Given the description of an element on the screen output the (x, y) to click on. 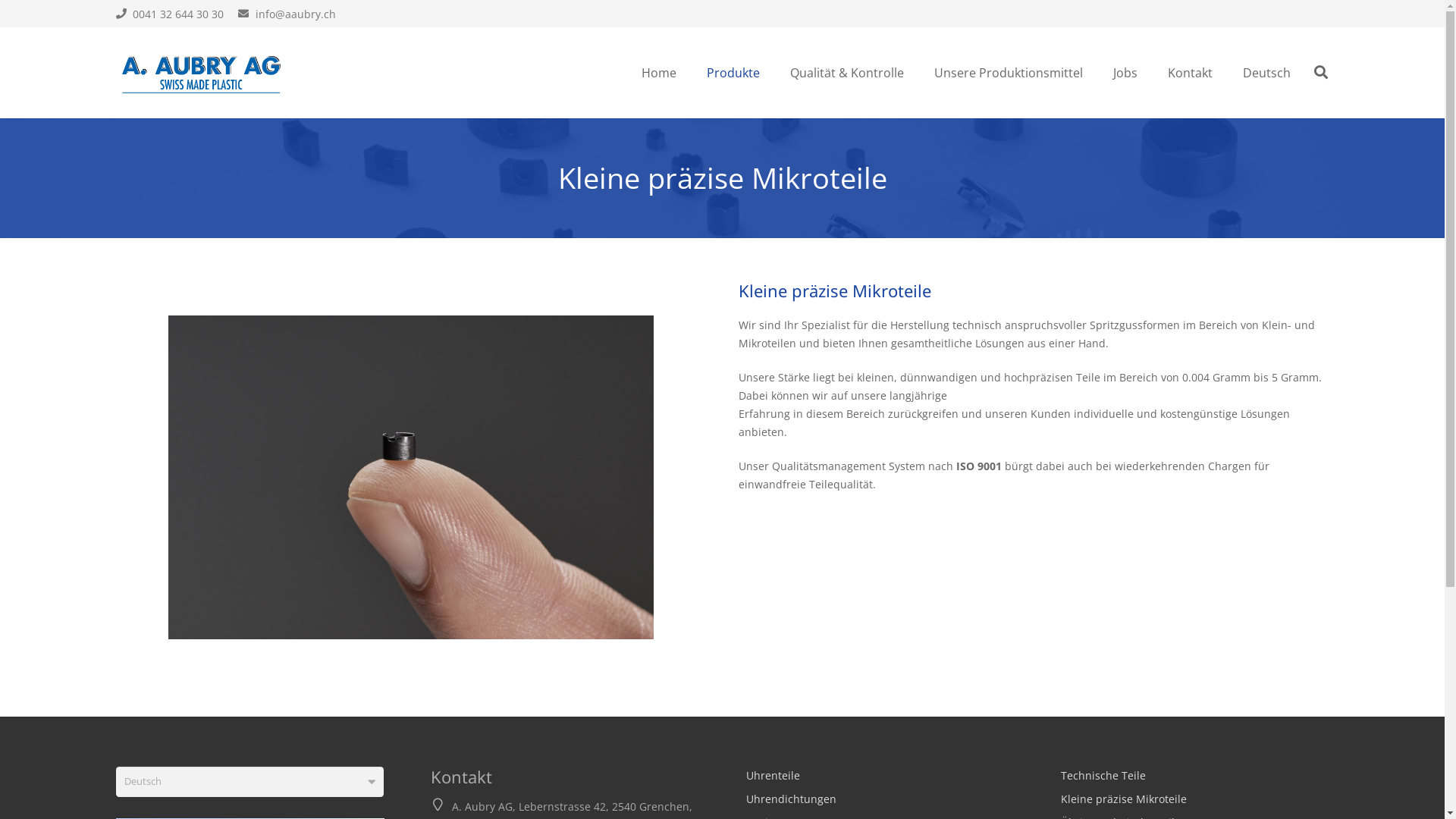
Produkte Element type: text (733, 72)
Unsere Produktionsmittel Element type: text (1008, 72)
Jobs Element type: text (1125, 72)
Technische Teile Element type: text (1102, 775)
Deutsch Element type: text (249, 781)
Uhrenteile Element type: text (773, 775)
Home Element type: text (658, 72)
Deutsch Element type: text (1266, 72)
info@aaubry.ch Element type: text (286, 13)
Uhrendichtungen Element type: text (791, 798)
Kontakt Element type: text (1189, 72)
